Given the description of an element on the screen output the (x, y) to click on. 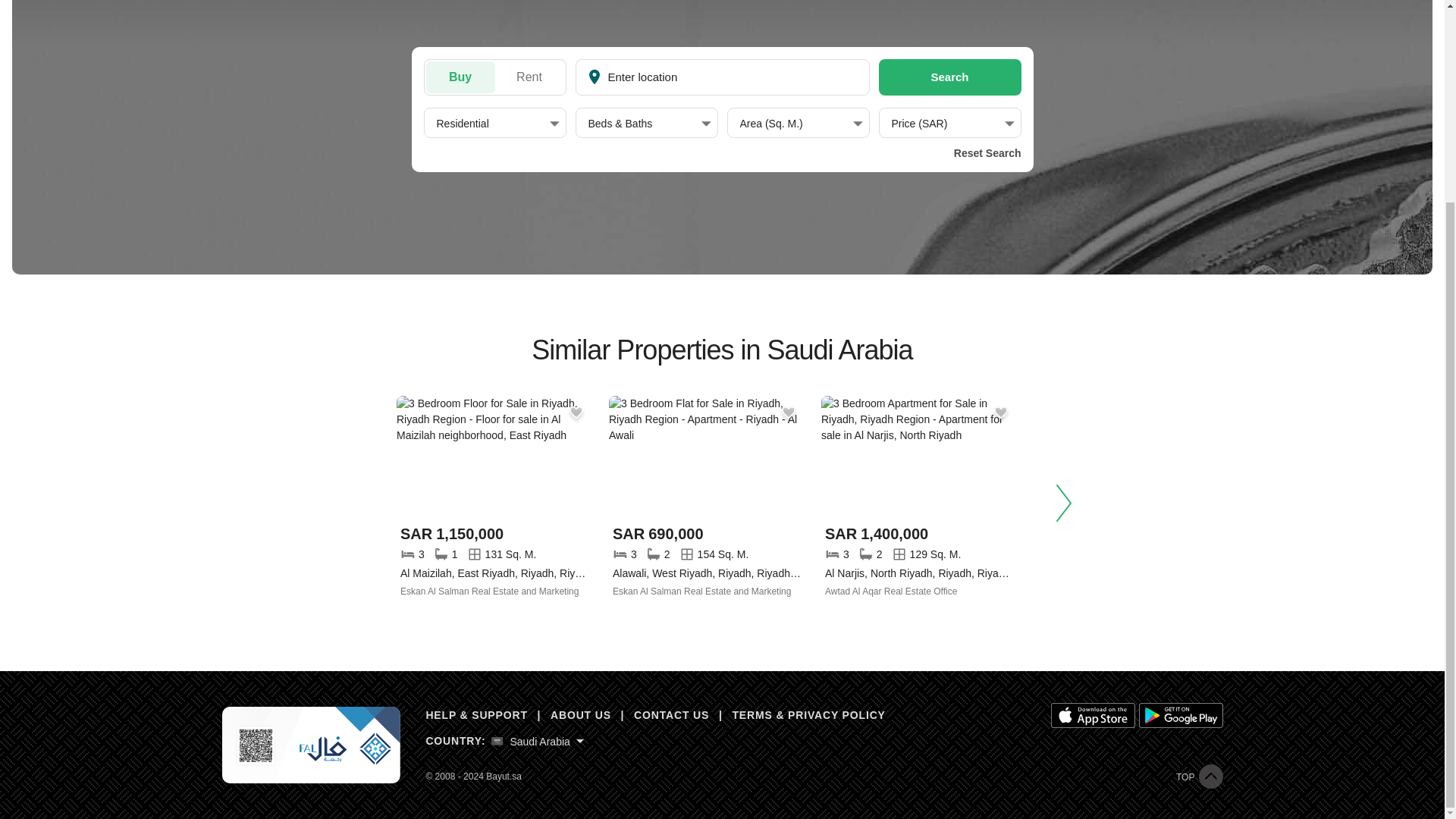
Add to favourites (999, 413)
Rent (529, 77)
Buy (460, 77)
Floor for sale in Al Maizilah neighborhood, East Riyadh (494, 563)
Reset Search (984, 152)
Apartment for sale in Al Narjis, North Riyadh (919, 563)
Floor for sale in Al Maizilah neighborhood, East Riyadh (494, 455)
Add to favourites (787, 413)
Apartment - Riyadh - Al Awali (706, 563)
Add to favourites (575, 413)
Apartment - Riyadh - Al Awali (706, 455)
Search (948, 76)
